Given the description of an element on the screen output the (x, y) to click on. 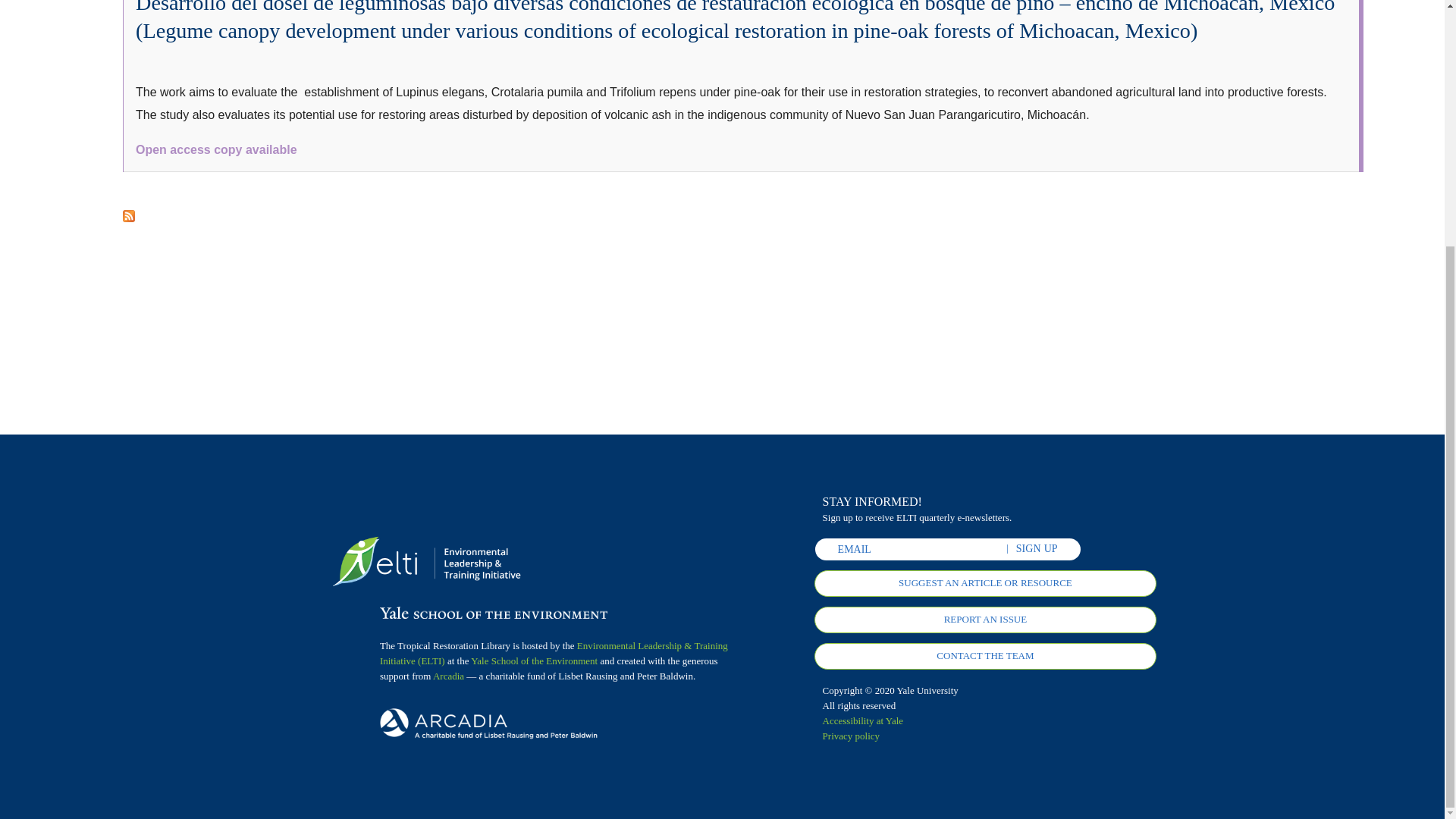
REPORT AN ISSUE (984, 619)
CONTACT THE TEAM (984, 655)
Accessibility at Yale (863, 720)
Sign Up (1037, 548)
Arcadia (448, 675)
Yale School of the Environment (533, 660)
Sign Up (1037, 548)
SUGGEST AN ARTICLE OR RESOURCE (984, 583)
